Given the description of an element on the screen output the (x, y) to click on. 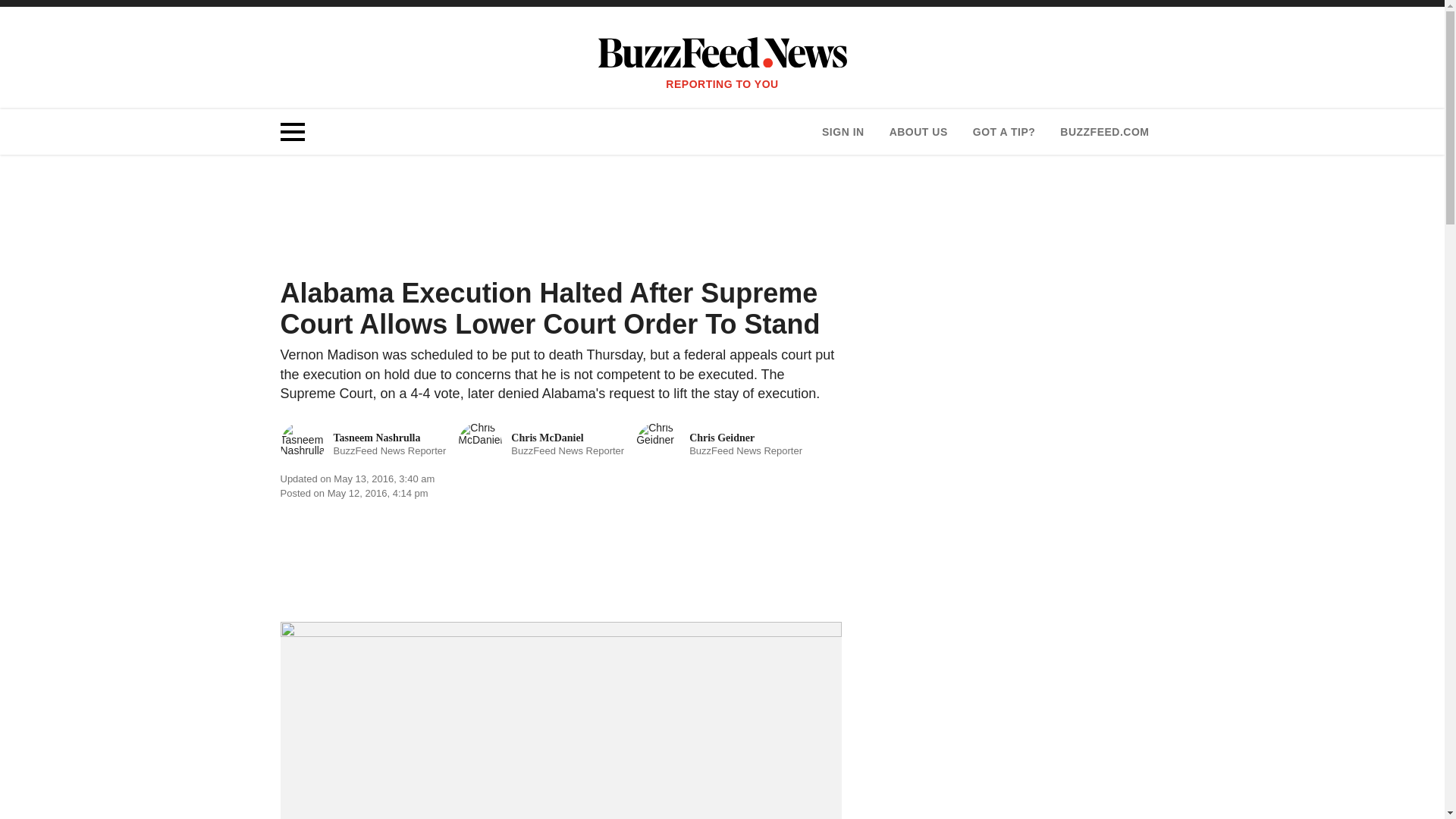
GOT A TIP? (1003, 131)
SIGN IN (842, 131)
ABOUT US (917, 131)
BUZZFEED.COM (1103, 131)
